Given the description of an element on the screen output the (x, y) to click on. 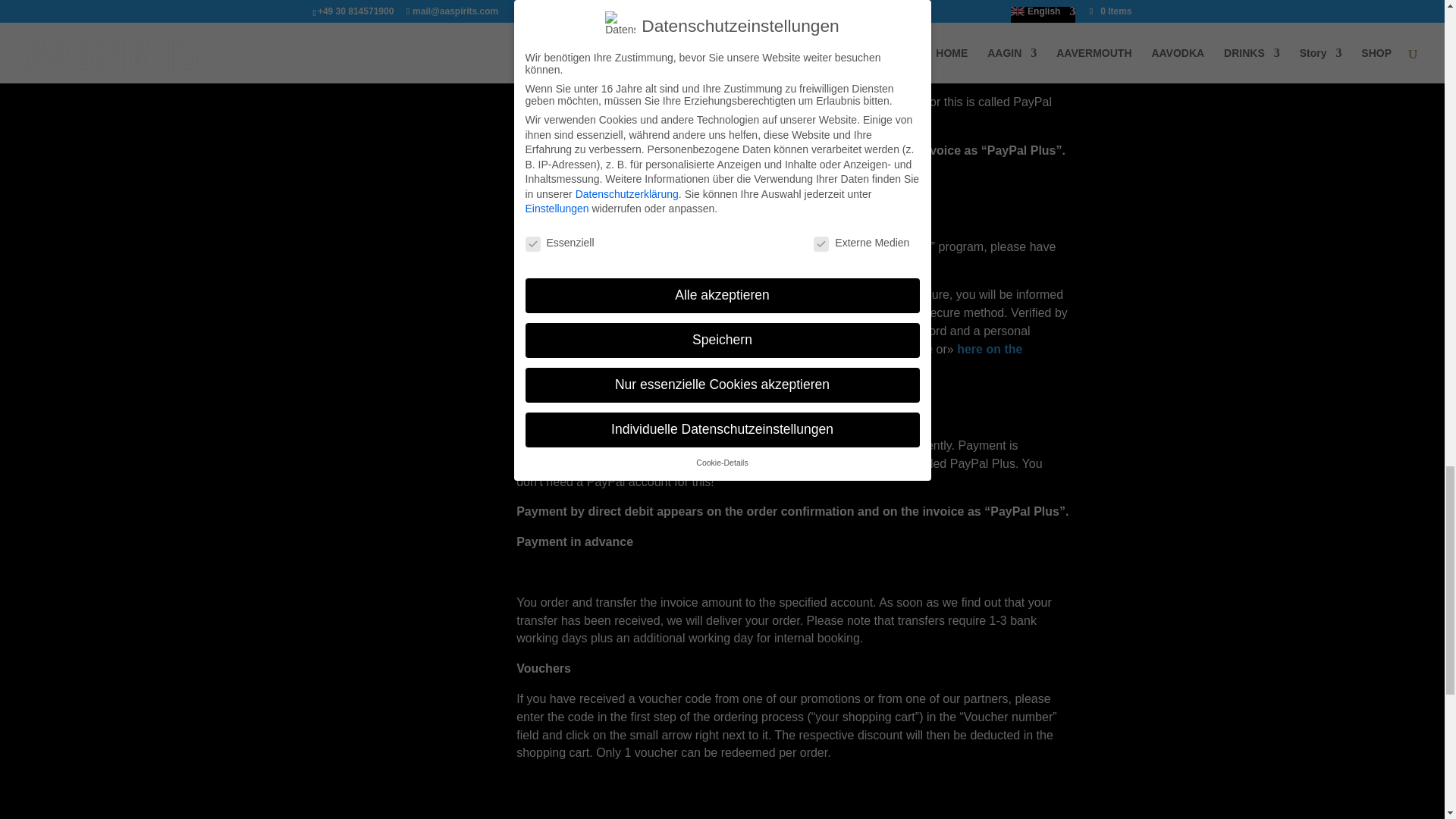
MasterCard Secure Code (769, 358)
Verified by Visa (857, 349)
